Given the description of an element on the screen output the (x, y) to click on. 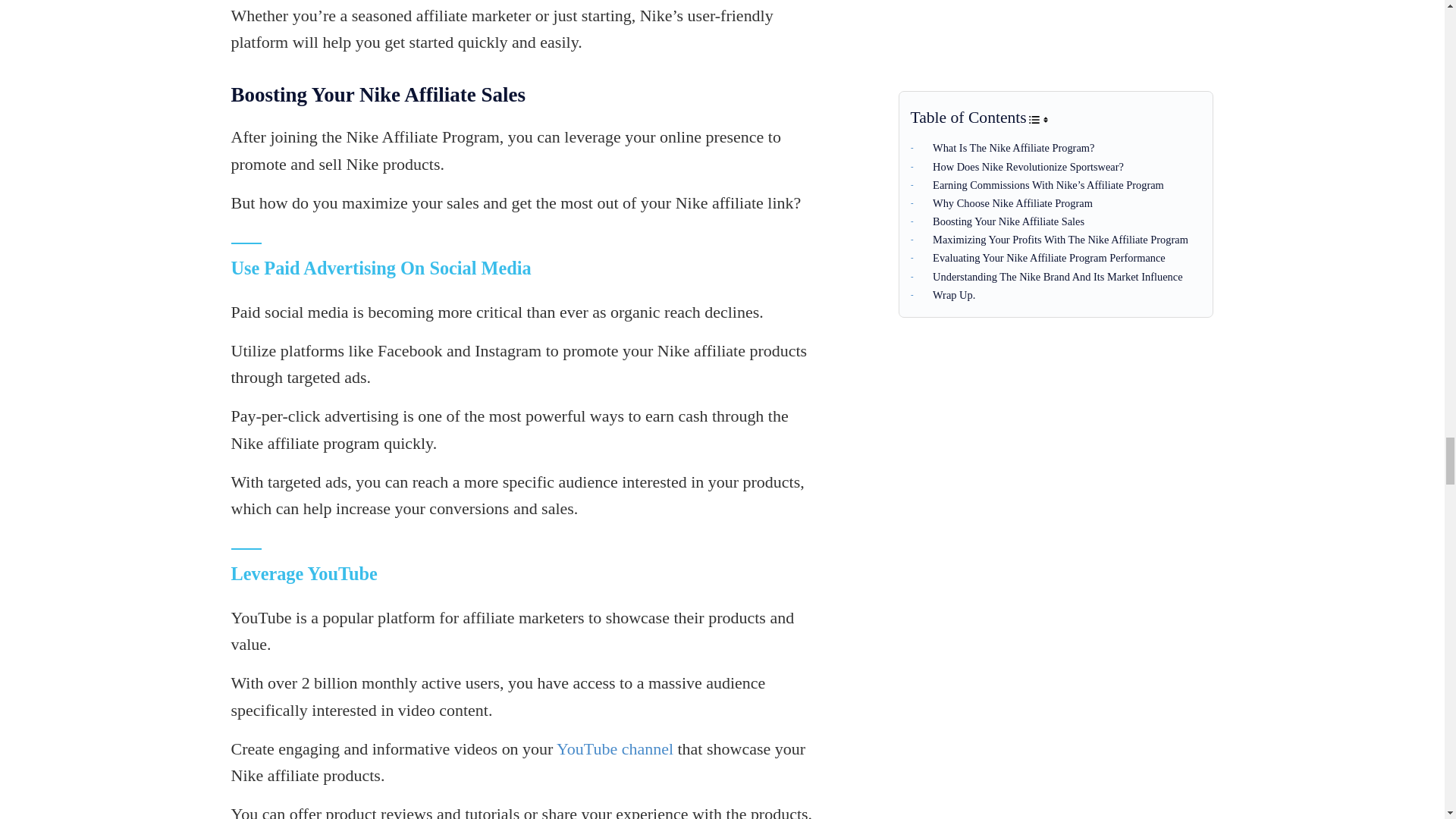
YouTube channel (614, 748)
